Given the description of an element on the screen output the (x, y) to click on. 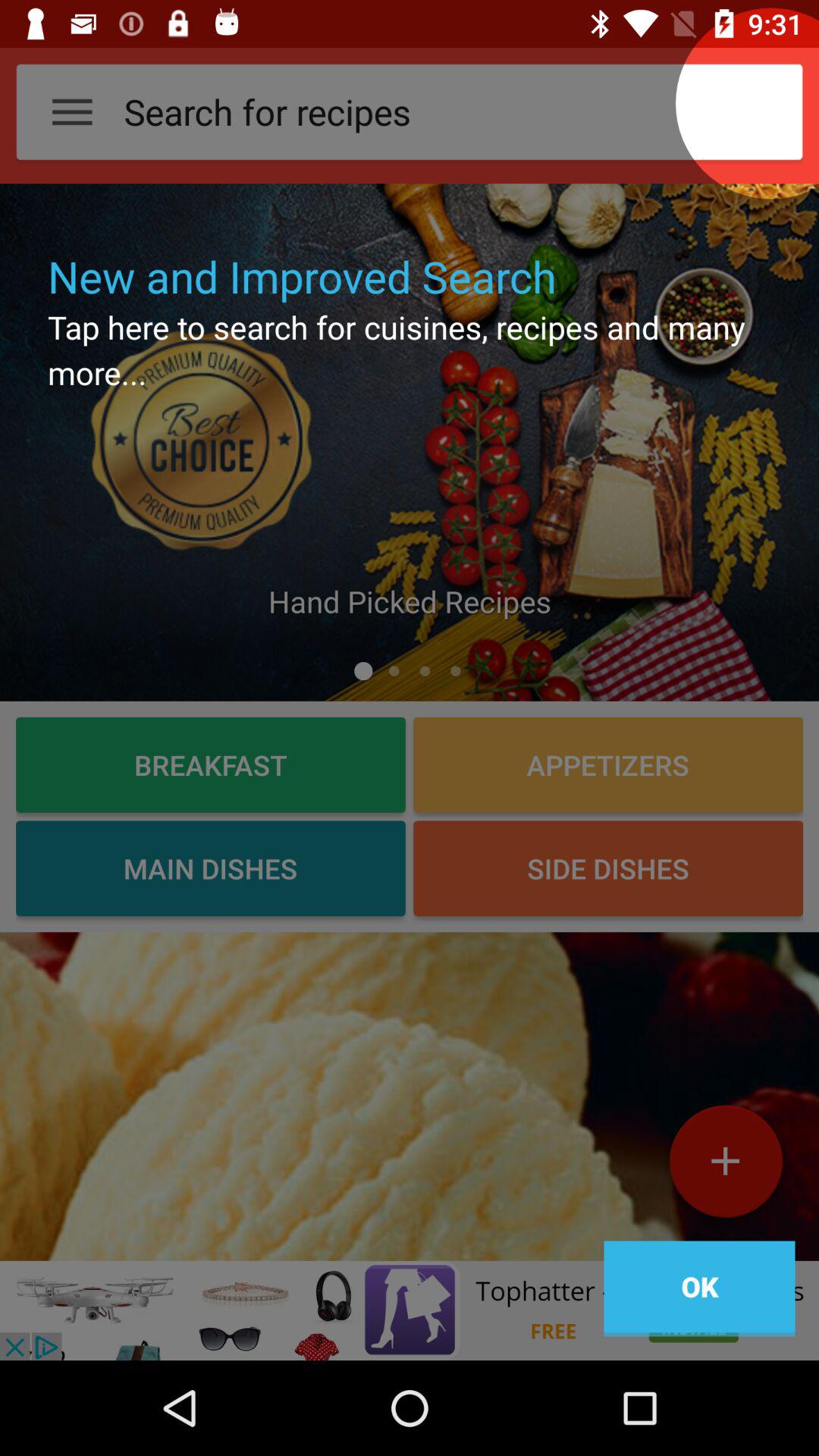
go to hand picked recipes option (409, 442)
